Given the description of an element on the screen output the (x, y) to click on. 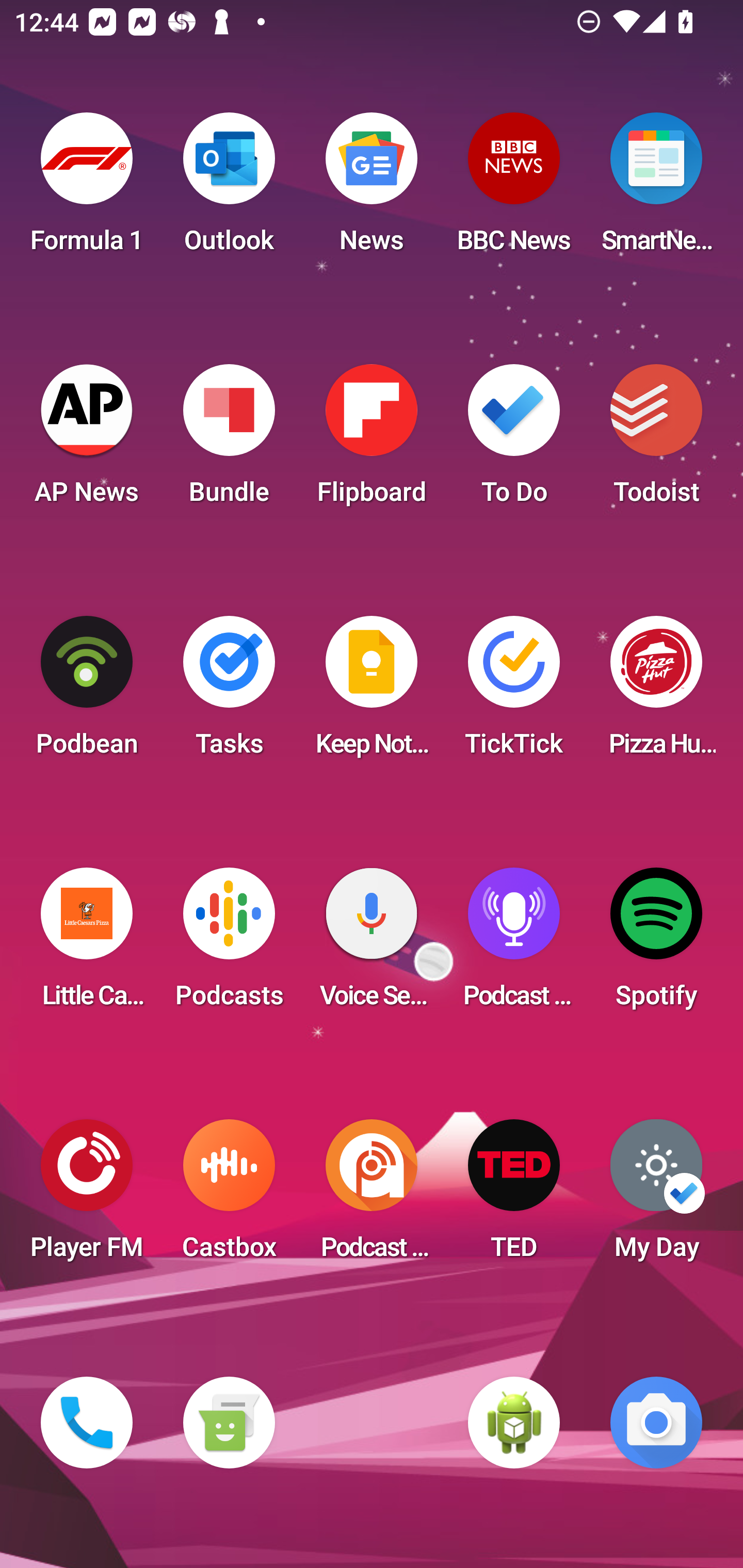
Formula 1 (86, 188)
Outlook (228, 188)
News (371, 188)
BBC News (513, 188)
SmartNews (656, 188)
AP News (86, 440)
Bundle (228, 440)
Flipboard (371, 440)
To Do (513, 440)
Todoist (656, 440)
Podbean (86, 692)
Tasks (228, 692)
Keep Notes (371, 692)
TickTick (513, 692)
Pizza Hut HK & Macau (656, 692)
Little Caesars Pizza (86, 943)
Podcasts (228, 943)
Voice Search (371, 943)
Podcast Player (513, 943)
Spotify (656, 943)
Player FM (86, 1195)
Castbox (228, 1195)
Podcast Addict (371, 1195)
TED (513, 1195)
My Day (656, 1195)
Phone (86, 1422)
Messaging (228, 1422)
WebView Browser Tester (513, 1422)
Camera (656, 1422)
